Given the description of an element on the screen output the (x, y) to click on. 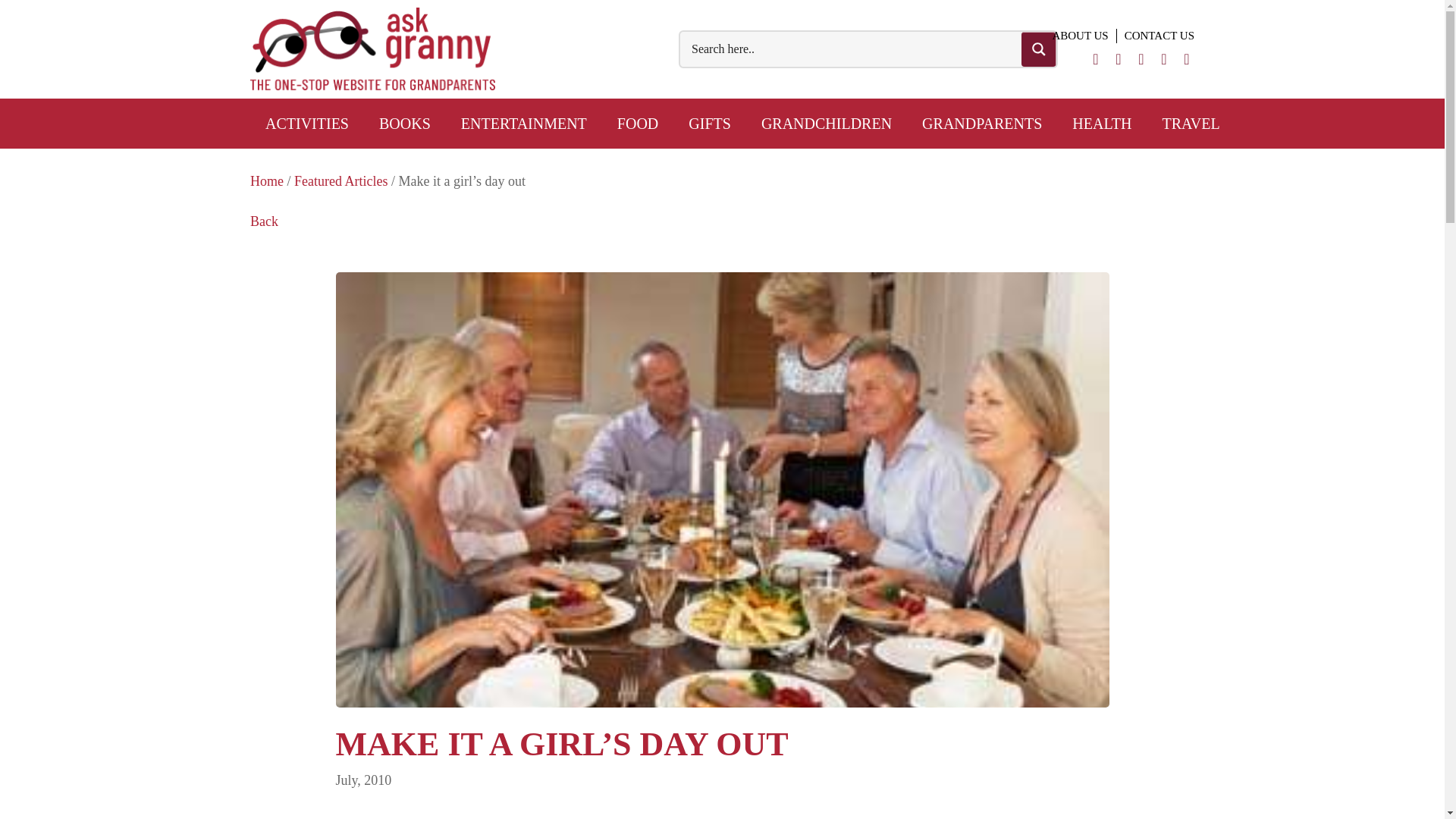
TWITTER (1095, 57)
PINTEREST (1141, 57)
GRANDCHILDREN (826, 123)
ABOUT US (1079, 35)
LINKEDIN (1163, 57)
BOOKS (404, 123)
ACTIVITIES (307, 123)
FACEBOOK (1117, 57)
INSTAGRAM (1186, 57)
FOOD (637, 123)
